Given the description of an element on the screen output the (x, y) to click on. 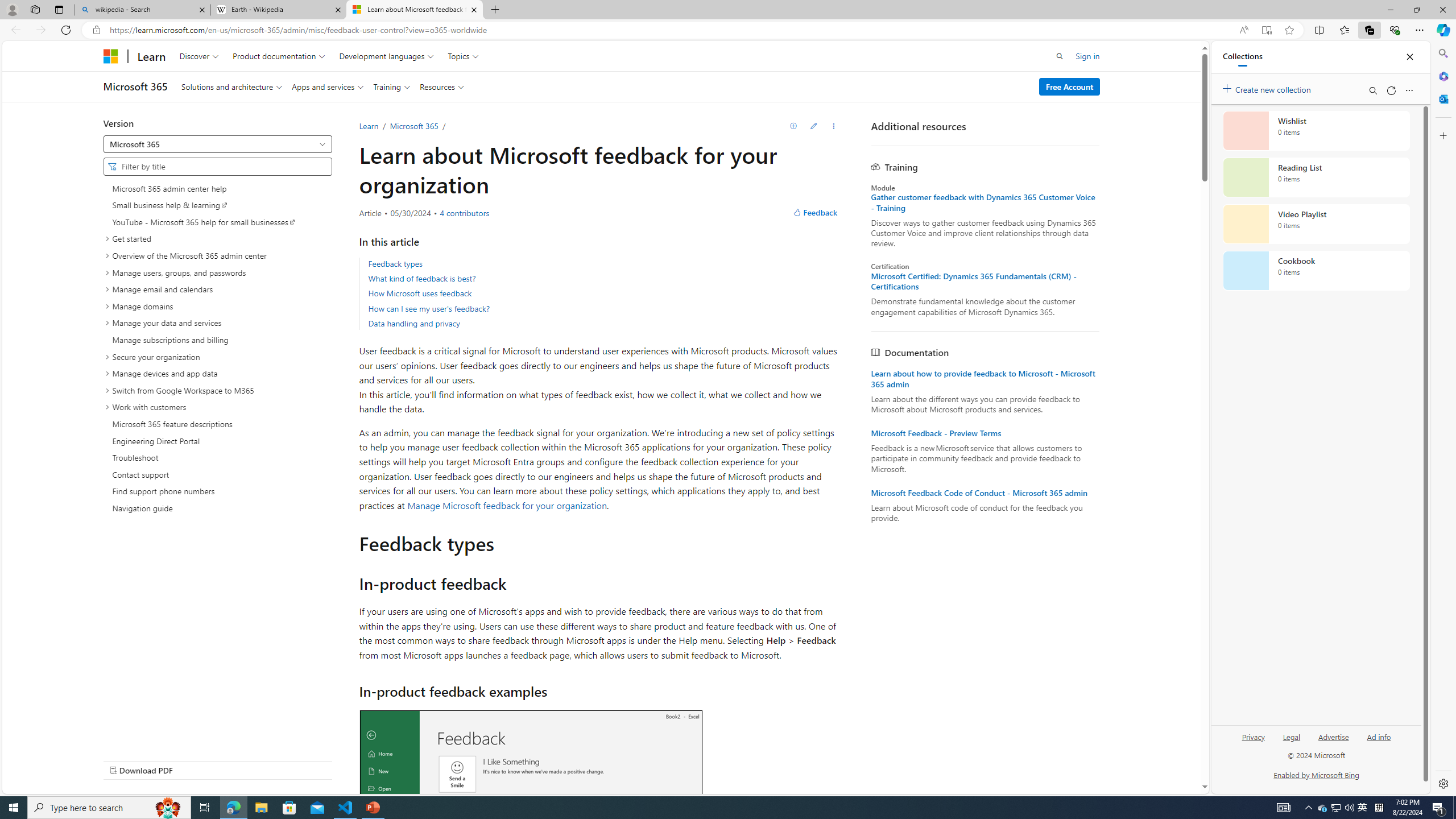
Skip to main content (10, 49)
New Tab (495, 9)
Free Account (1069, 85)
Favorites (1344, 29)
Data handling and privacy (414, 322)
Read aloud this page (Ctrl+Shift+U) (1243, 29)
4 contributors (464, 212)
Ad info (1378, 741)
Training (391, 86)
Legal (1292, 741)
Create new collection (1268, 87)
View all contributors (464, 212)
Product documentation (278, 55)
